Given the description of an element on the screen output the (x, y) to click on. 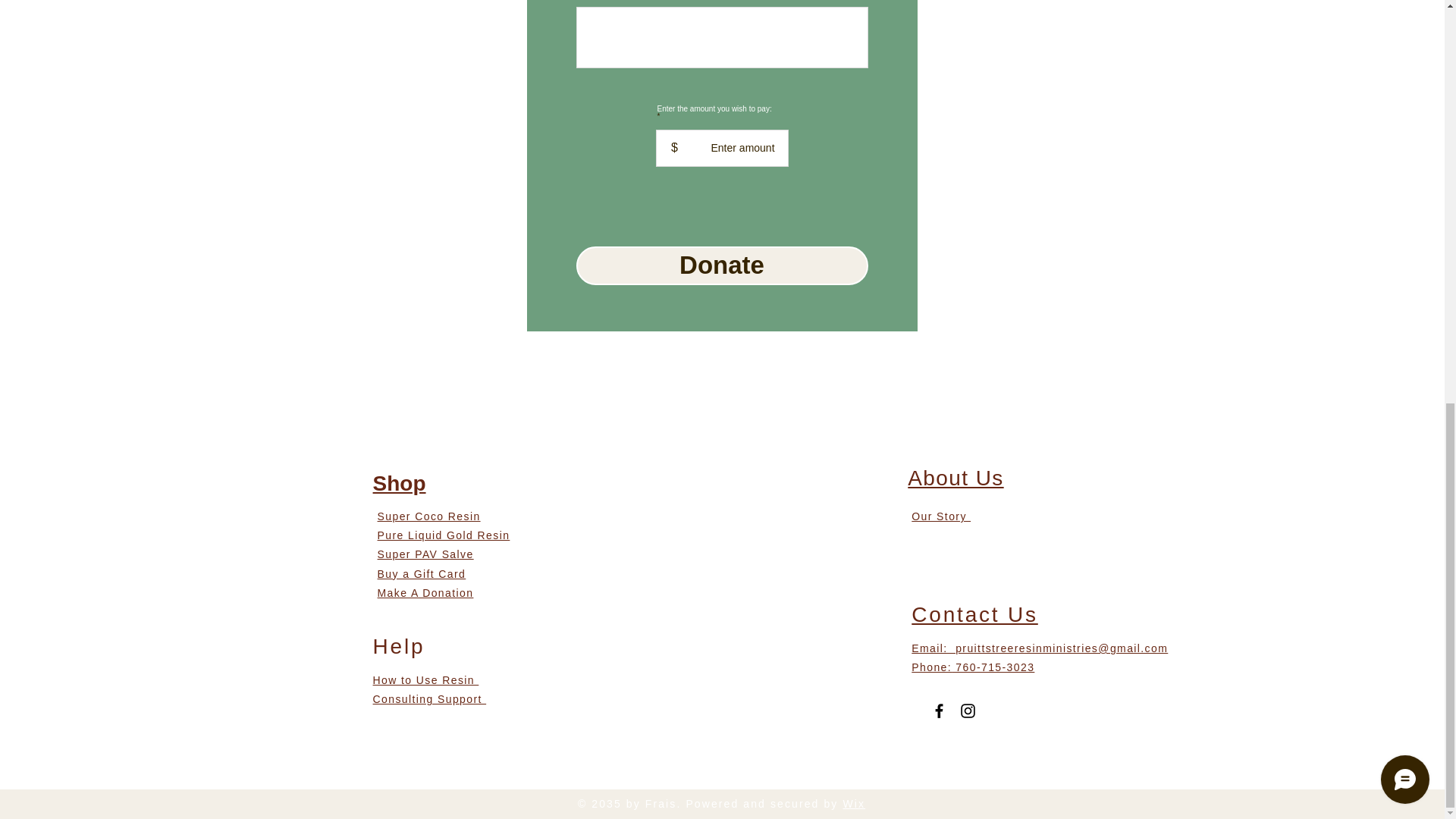
Our Story  (941, 516)
Shop (399, 483)
Buy a Gift Card (421, 573)
Pure Liquid Gold Resin (444, 535)
About Us (955, 477)
Make A Donation (425, 592)
Wix (853, 803)
Donate (721, 265)
Super Coco Resin (428, 516)
Super PAV Salve (425, 553)
Contact Us (974, 614)
760-715-3023 (992, 666)
Consulting Support  (429, 698)
How to Use Resin  (425, 680)
